Given the description of an element on the screen output the (x, y) to click on. 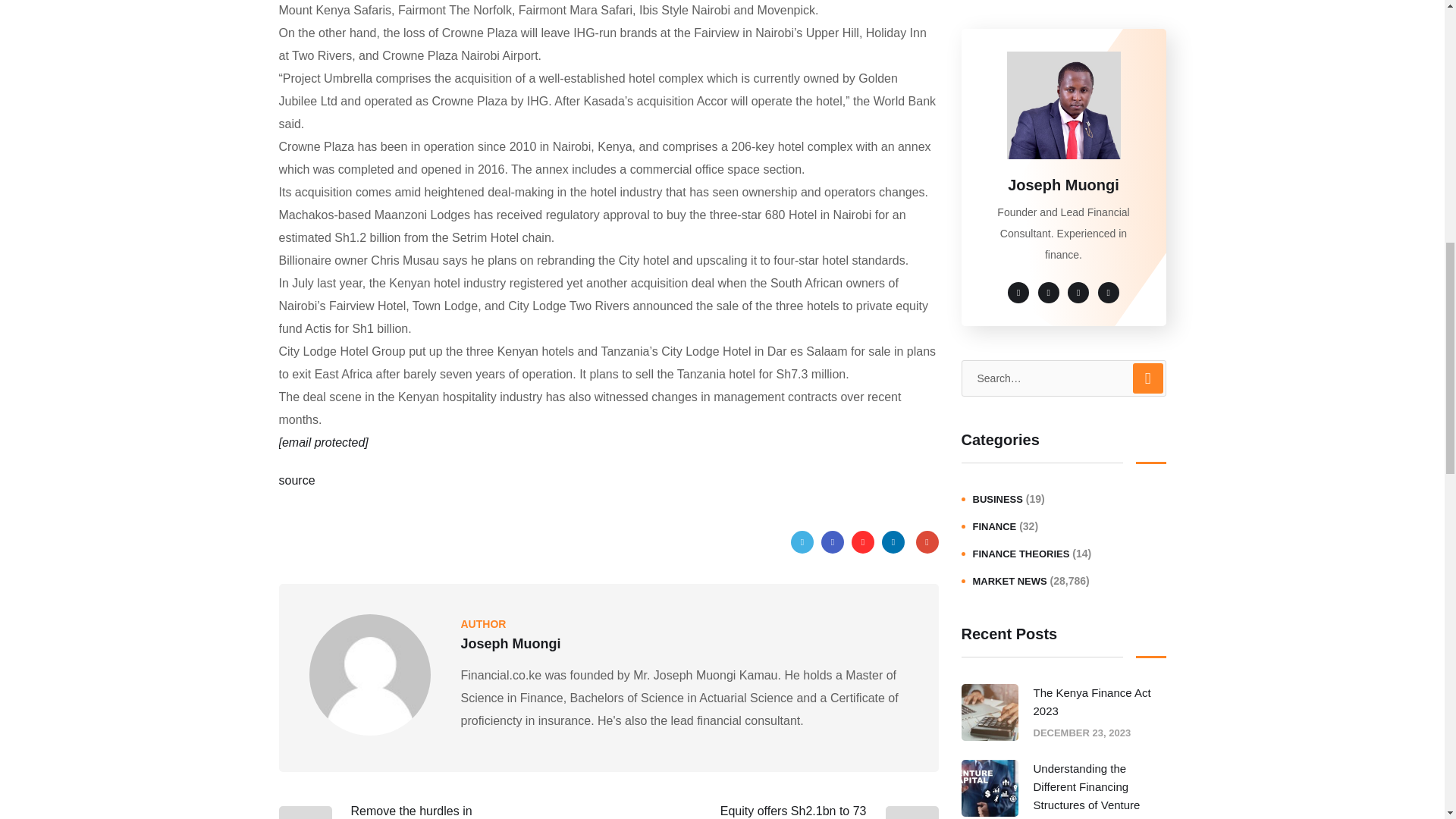
Google Plus (927, 541)
Facebook (832, 541)
LinkedIn (893, 541)
Twitter (801, 541)
Pinterest (863, 541)
